Given the description of an element on the screen output the (x, y) to click on. 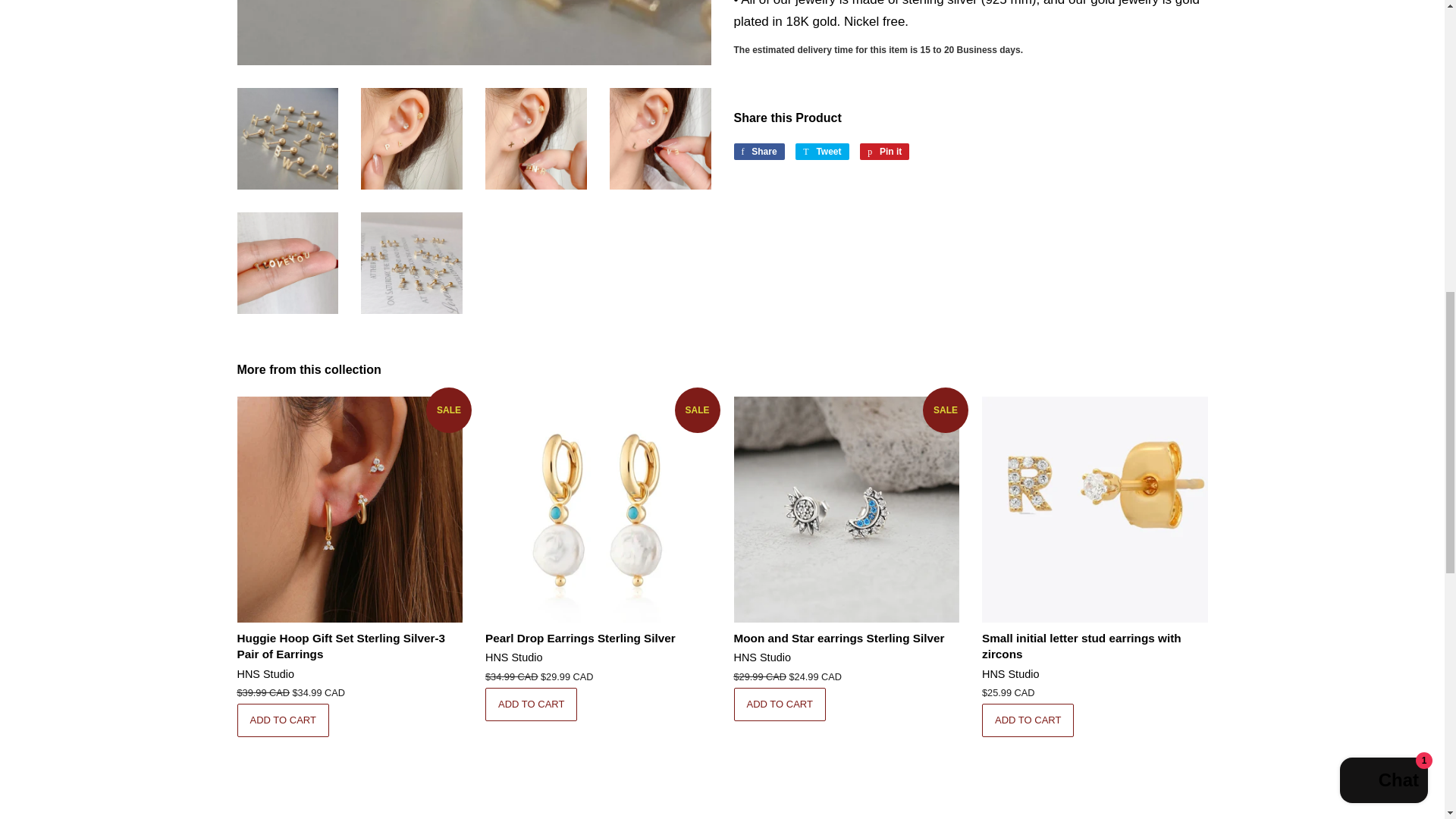
Add to cart (1027, 720)
Add to cart (282, 720)
Add to cart (779, 704)
Share on Facebook (758, 151)
Pin on Pinterest (884, 151)
Tweet on Twitter (821, 151)
Add to cart (530, 704)
